Given the description of an element on the screen output the (x, y) to click on. 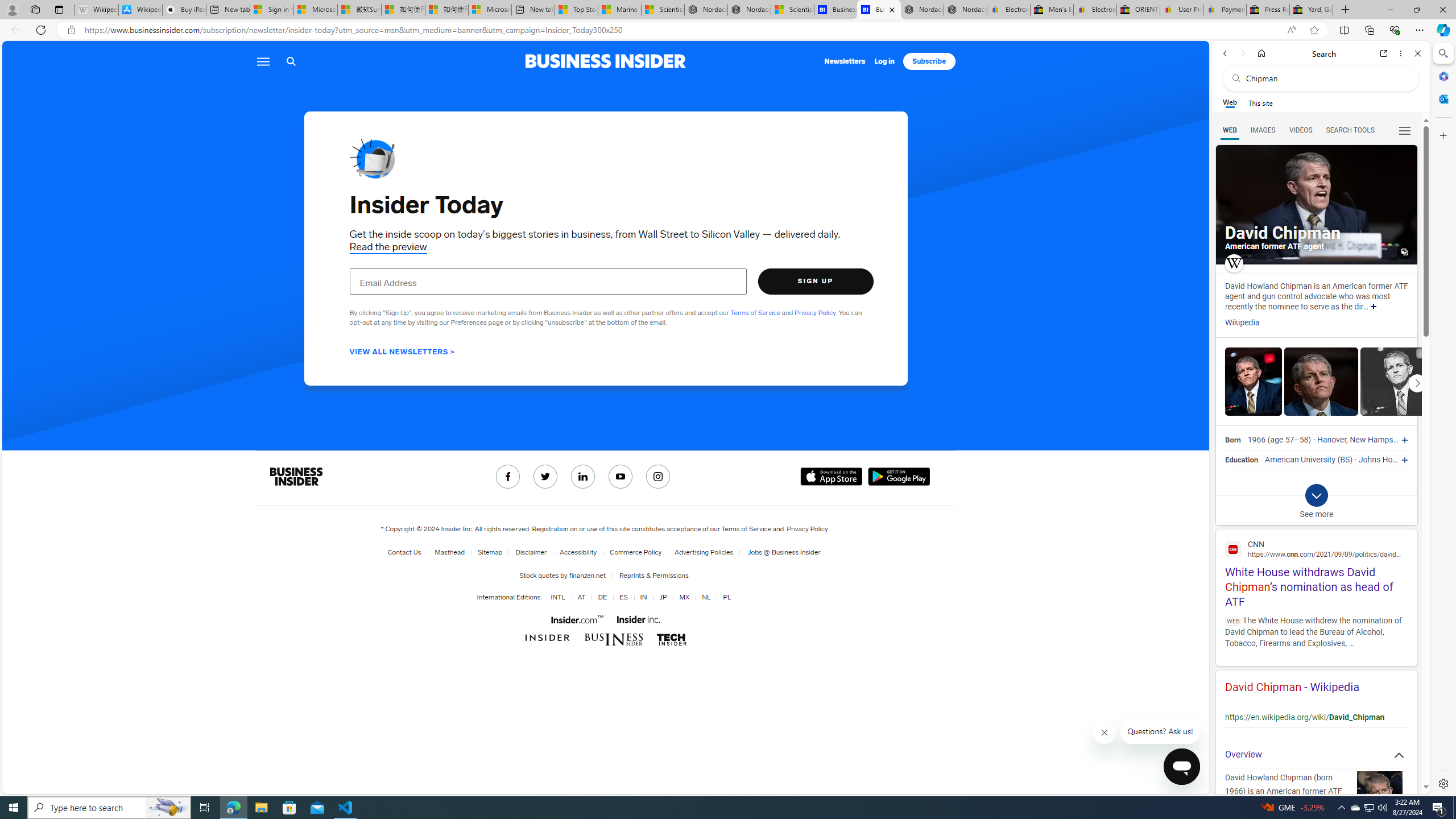
Get it on Google Play (898, 476)
PL (724, 597)
Class: b_exp_chevron_svg b_expmob_chev (1315, 495)
Class: sc-1uf0igr-1 fjHZYk (1104, 732)
Menu icon (263, 61)
Commerce Policy (636, 552)
Disclaimer (528, 552)
